Given the description of an element on the screen output the (x, y) to click on. 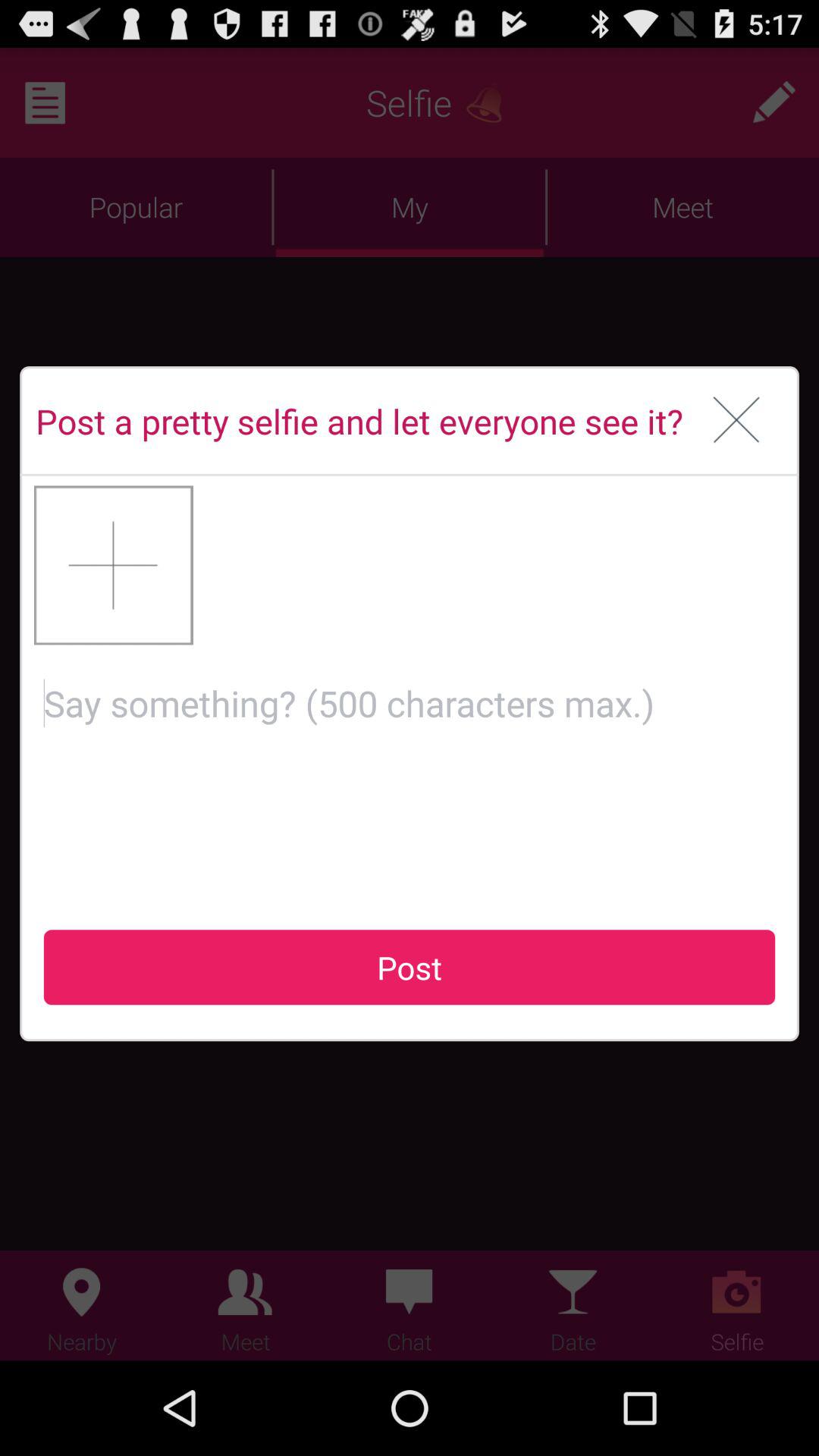
type a comment (409, 774)
